Given the description of an element on the screen output the (x, y) to click on. 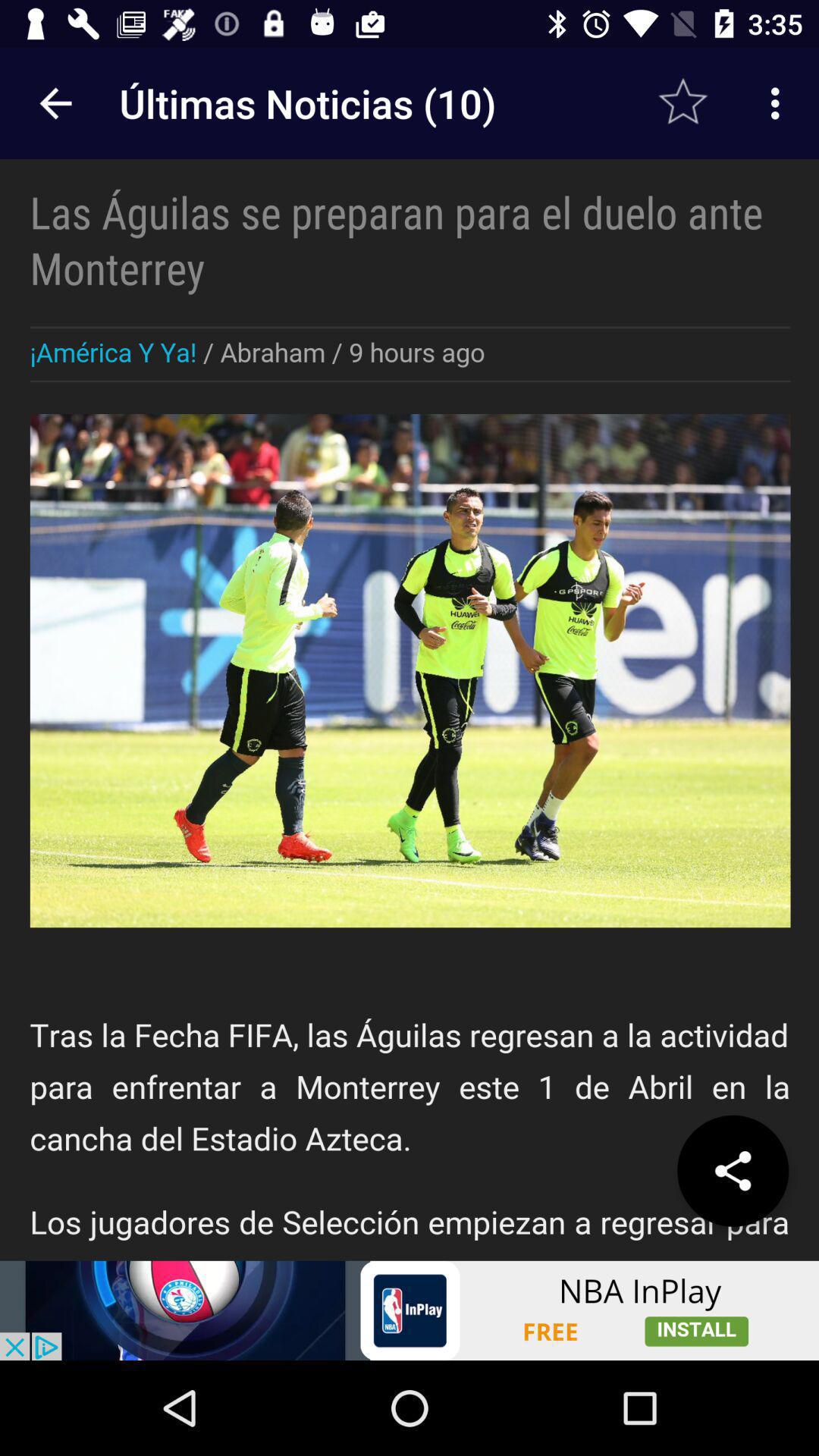
share options (733, 1171)
